Given the description of an element on the screen output the (x, y) to click on. 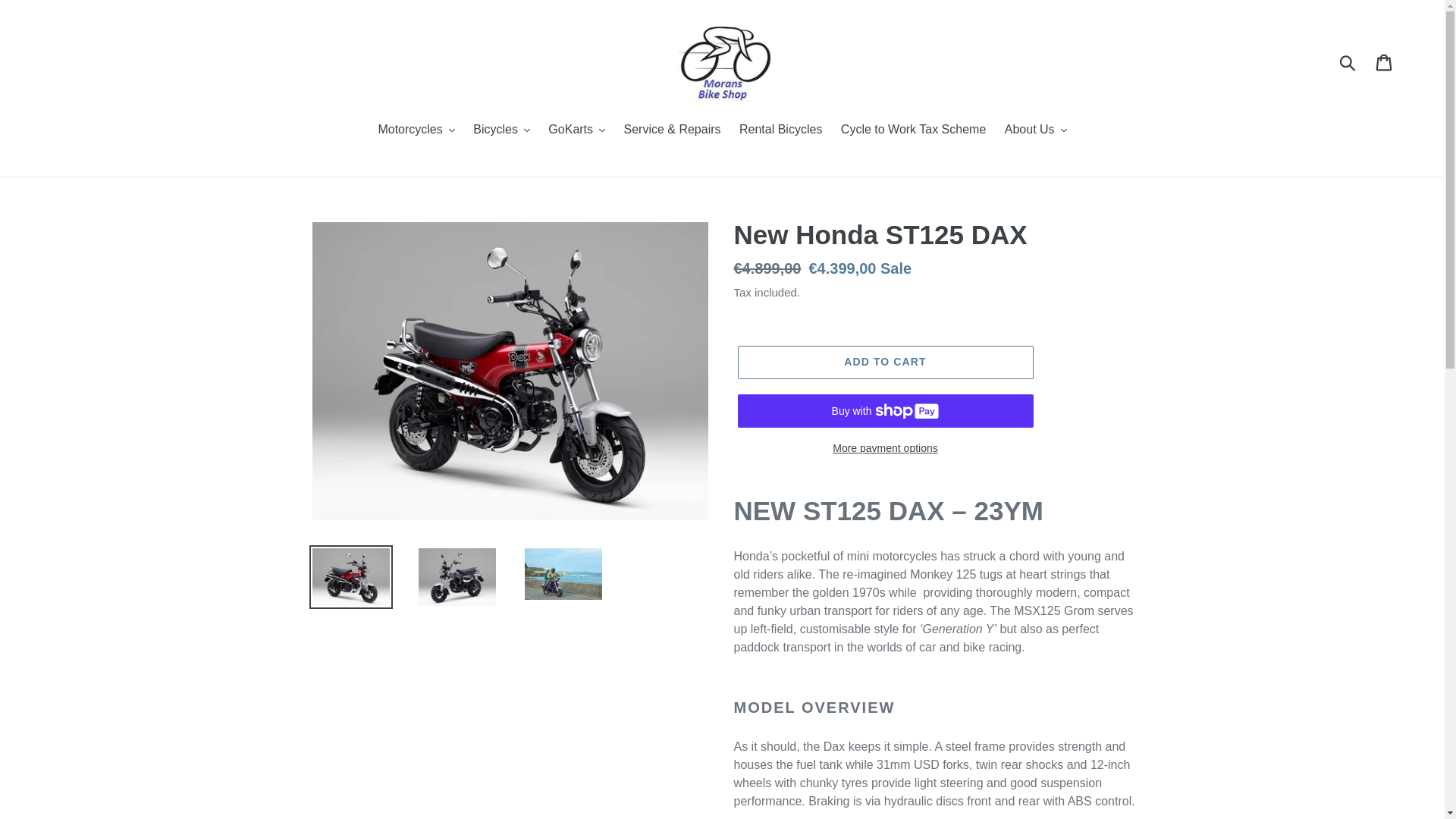
Submit (1348, 61)
Cart (1385, 61)
